Given the description of an element on the screen output the (x, y) to click on. 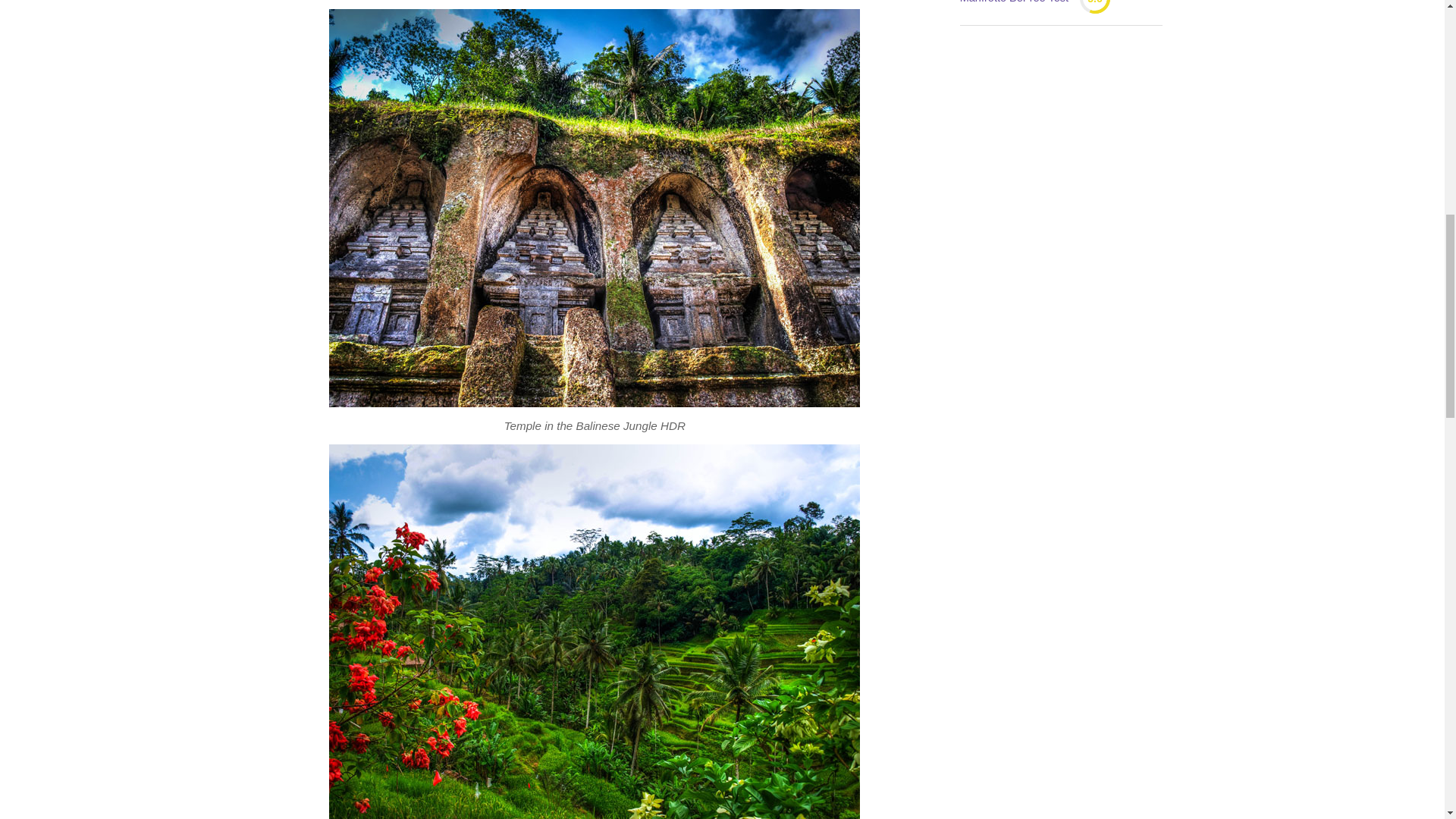
Manfrotto BeFree (1013, 4)
